Given the description of an element on the screen output the (x, y) to click on. 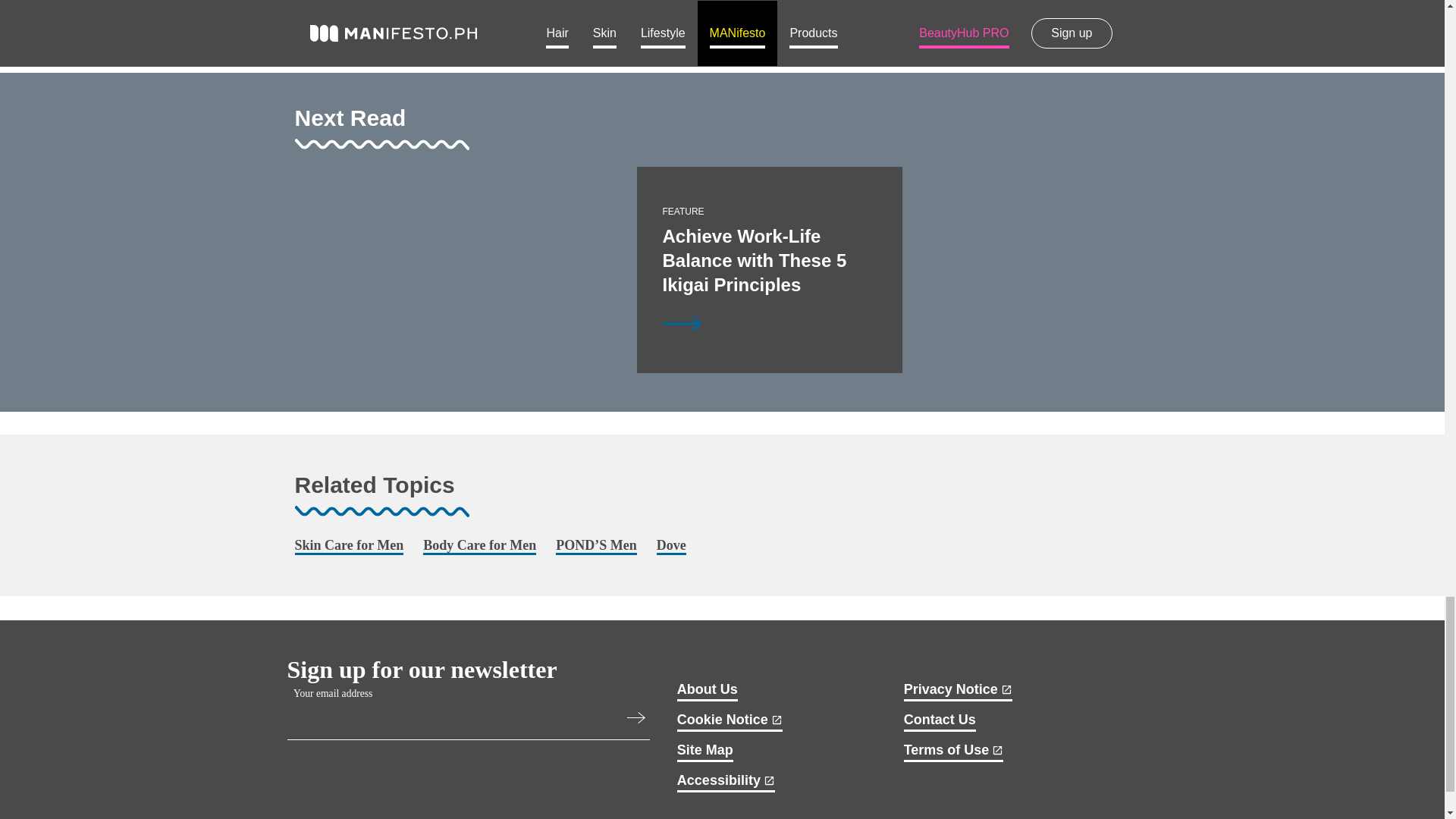
Accessibility - Link opens in a new window (725, 782)
Click to see Article details (682, 323)
Cookie Notice - Link opens in a new window (730, 721)
Terms of Use - Link opens in a new window (954, 752)
Privacy Notice - Link opens in a new window (957, 691)
Click to see Article details (487, 365)
Please enter a valid email (638, 720)
